Given the description of an element on the screen output the (x, y) to click on. 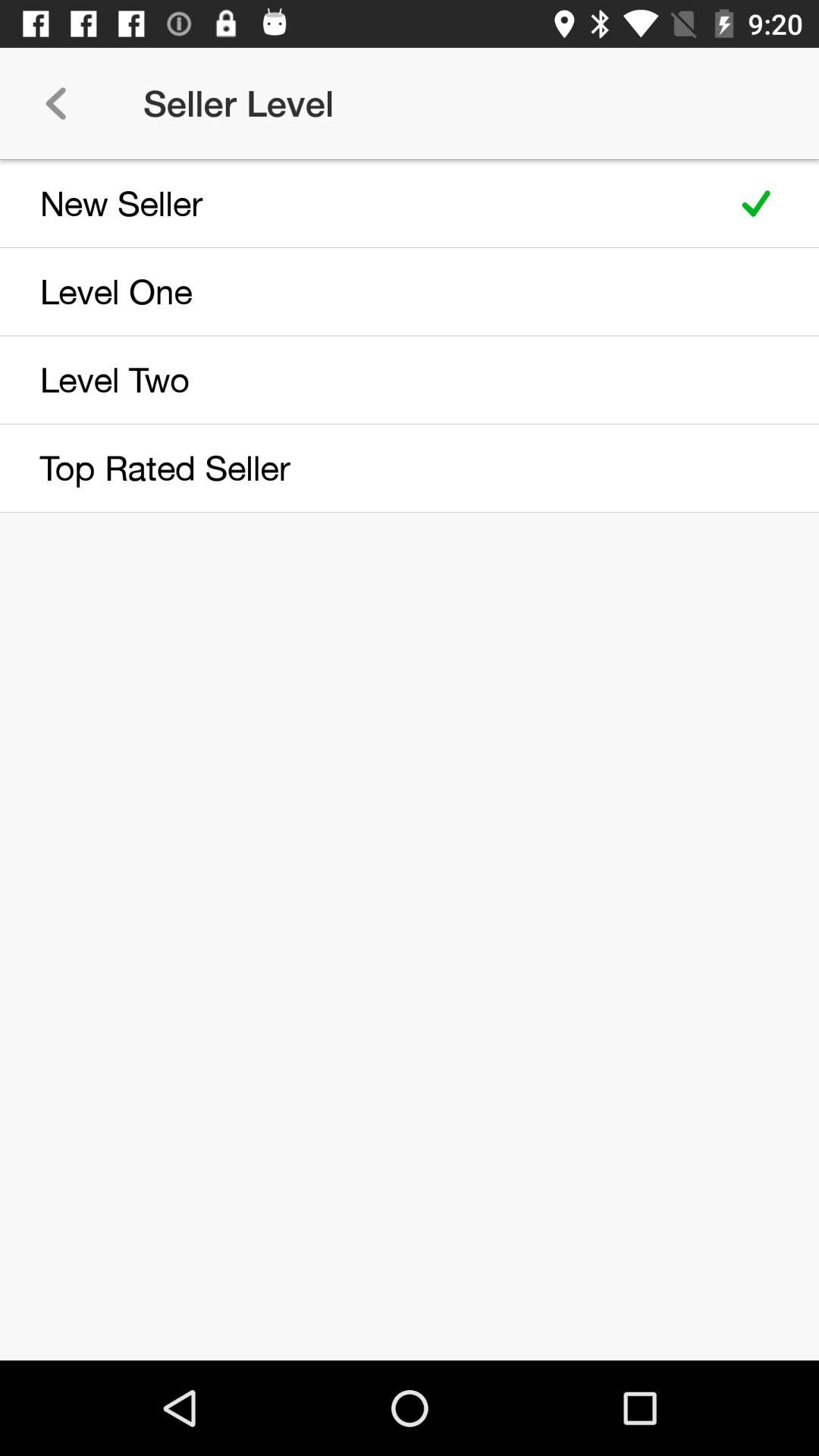
tap the item below the new seller item (358, 291)
